Given the description of an element on the screen output the (x, y) to click on. 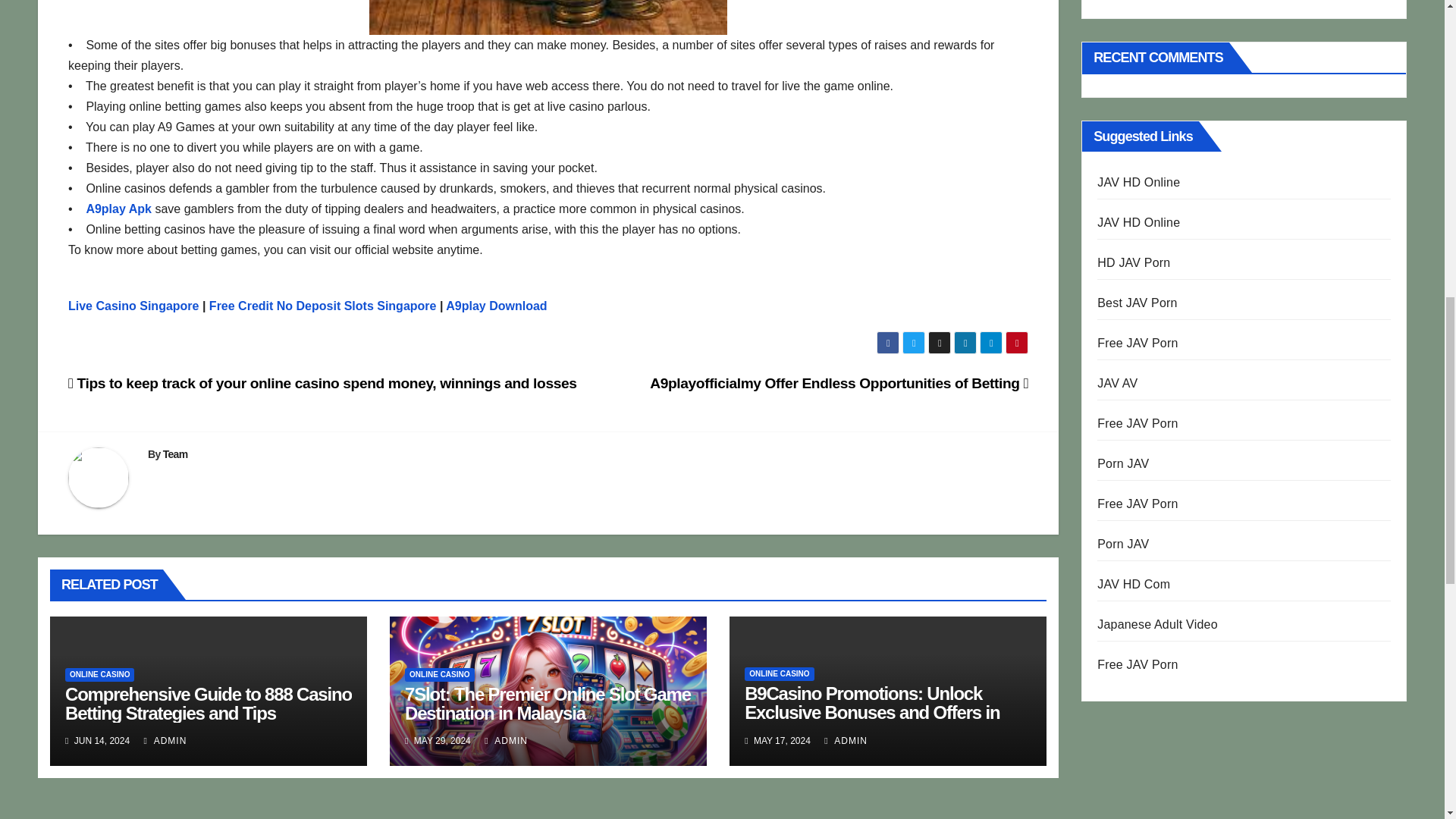
Live Casino Singapore (133, 305)
Free Credit No Deposit Slots Singapore (322, 305)
A9play Apk (118, 208)
A9playofficialmy Offer Endless Opportunities of Betting (838, 383)
A9play Download (496, 305)
